Given the description of an element on the screen output the (x, y) to click on. 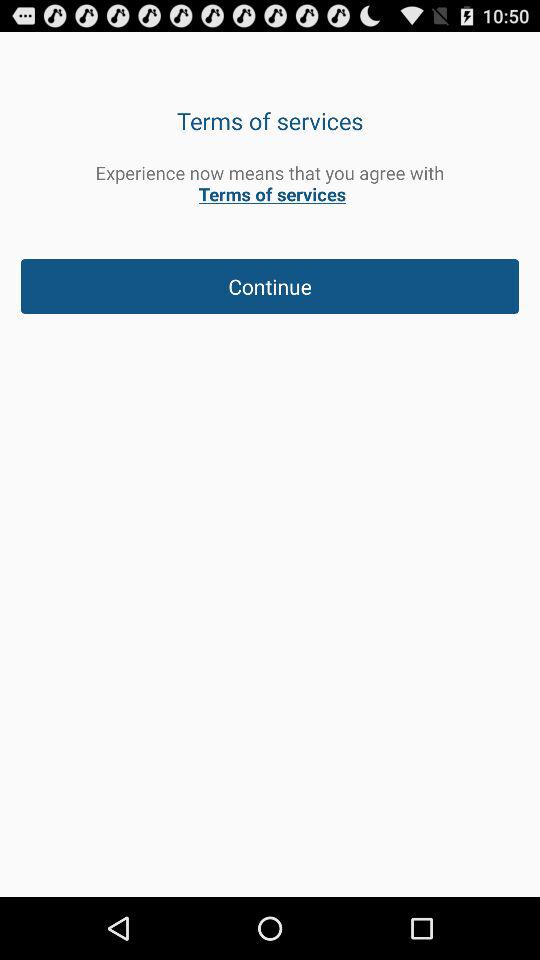
flip to experience now means (270, 183)
